Given the description of an element on the screen output the (x, y) to click on. 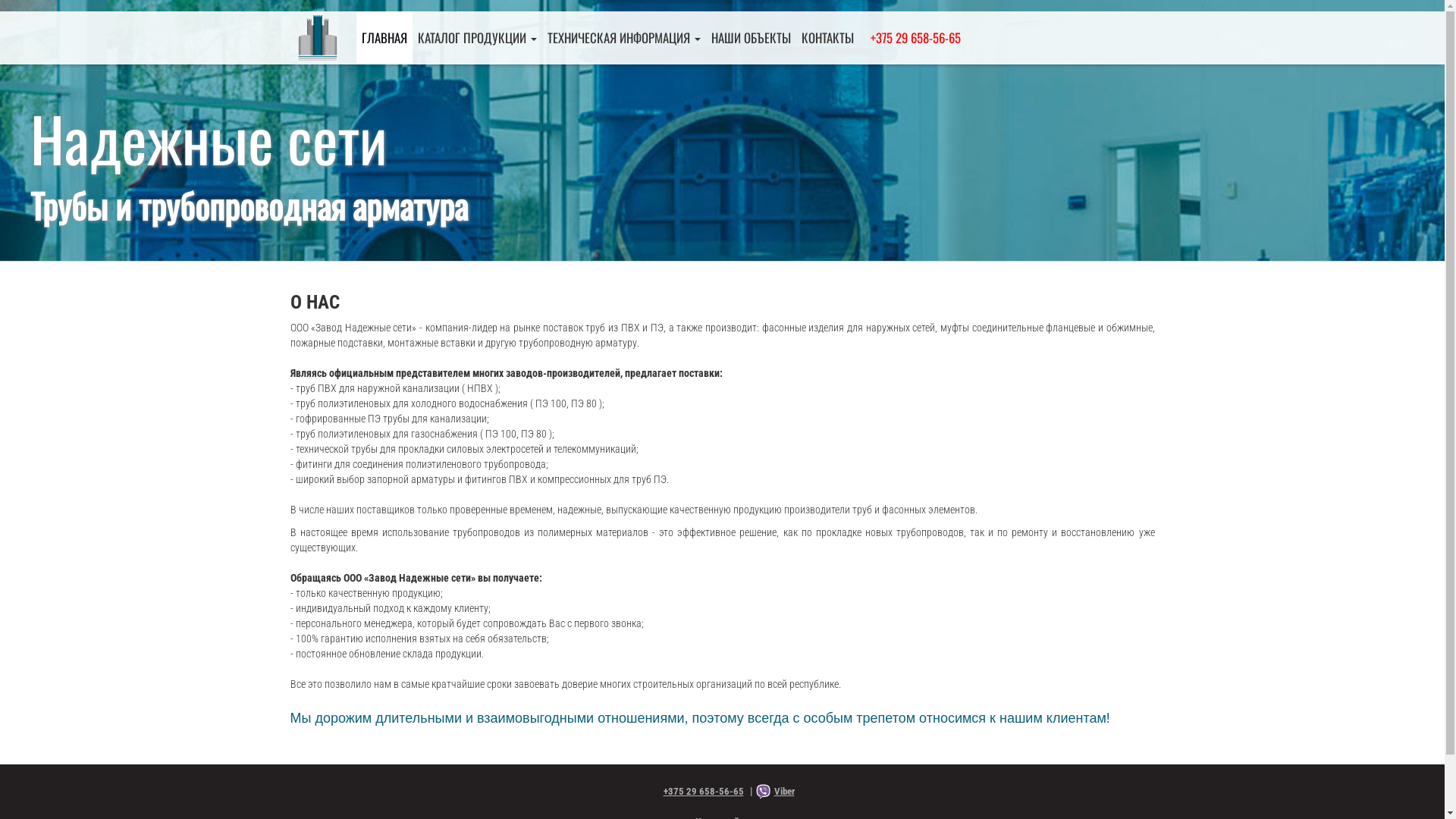
Viber Element type: text (777, 791)
+375 29 658-56-65 Element type: text (912, 37)
+375 29 658-56-65 Element type: text (696, 791)
